Given the description of an element on the screen output the (x, y) to click on. 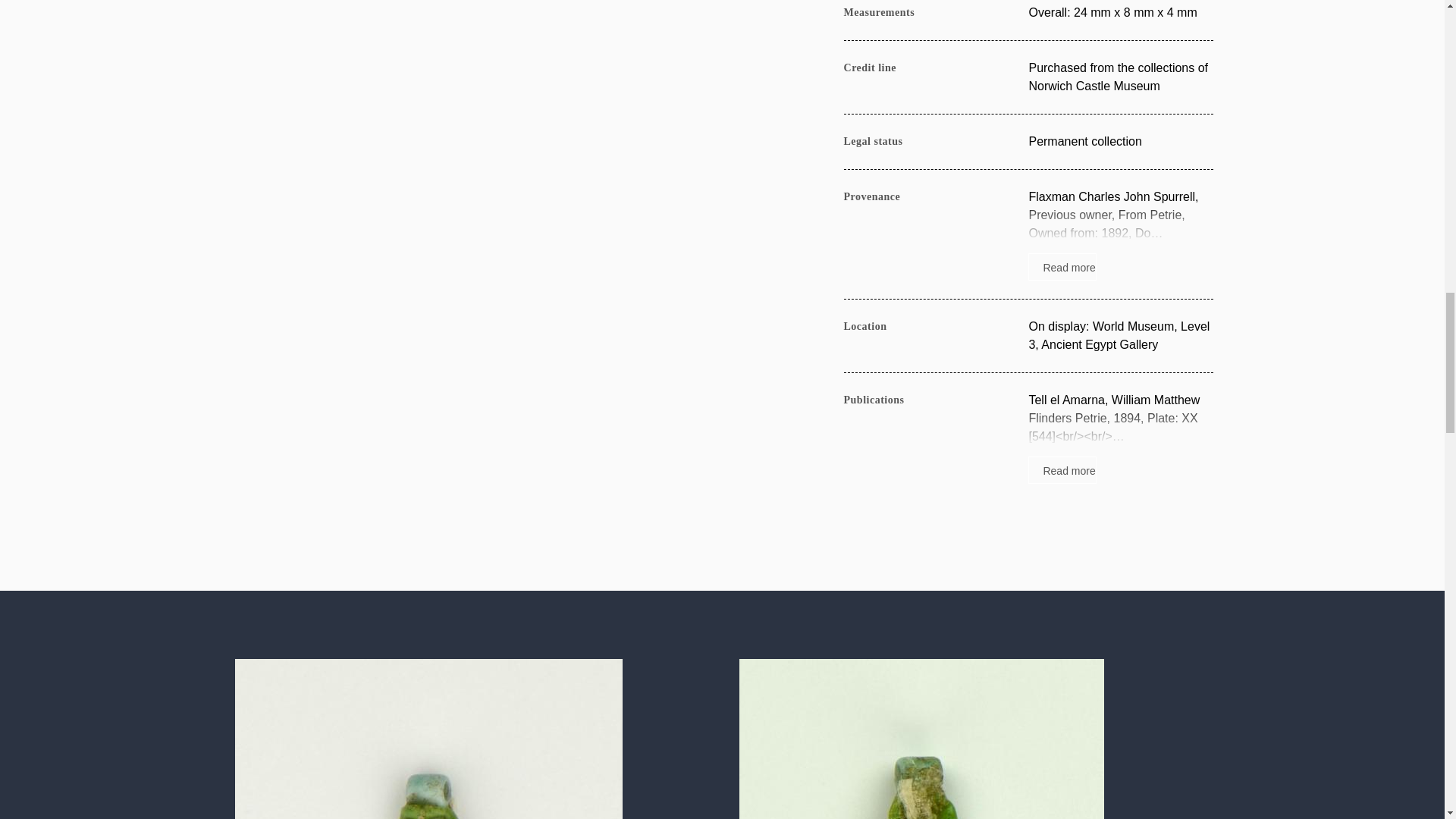
Read more (1119, 437)
Read more (1119, 234)
